Given the description of an element on the screen output the (x, y) to click on. 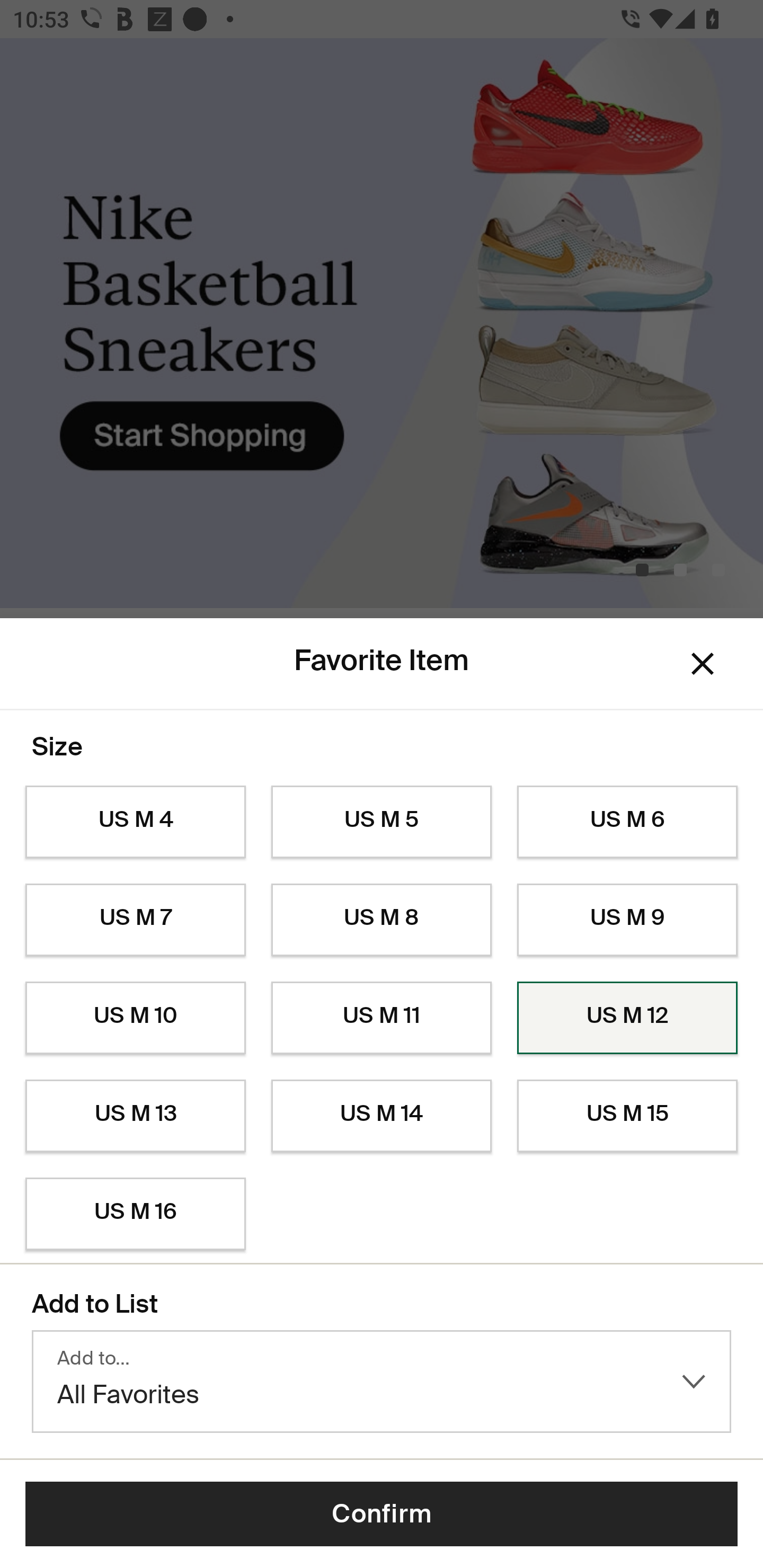
Dismiss (702, 663)
US M 4 (135, 822)
US M 5 (381, 822)
US M 6 (627, 822)
US M 7 (135, 919)
US M 8 (381, 919)
US M 9 (627, 919)
US M 10 (135, 1018)
US M 11 (381, 1018)
US M 12 (627, 1018)
US M 13 (135, 1116)
US M 14 (381, 1116)
US M 15 (627, 1116)
US M 16 (135, 1214)
Add to… All Favorites (381, 1381)
Confirm (381, 1513)
